Given the description of an element on the screen output the (x, y) to click on. 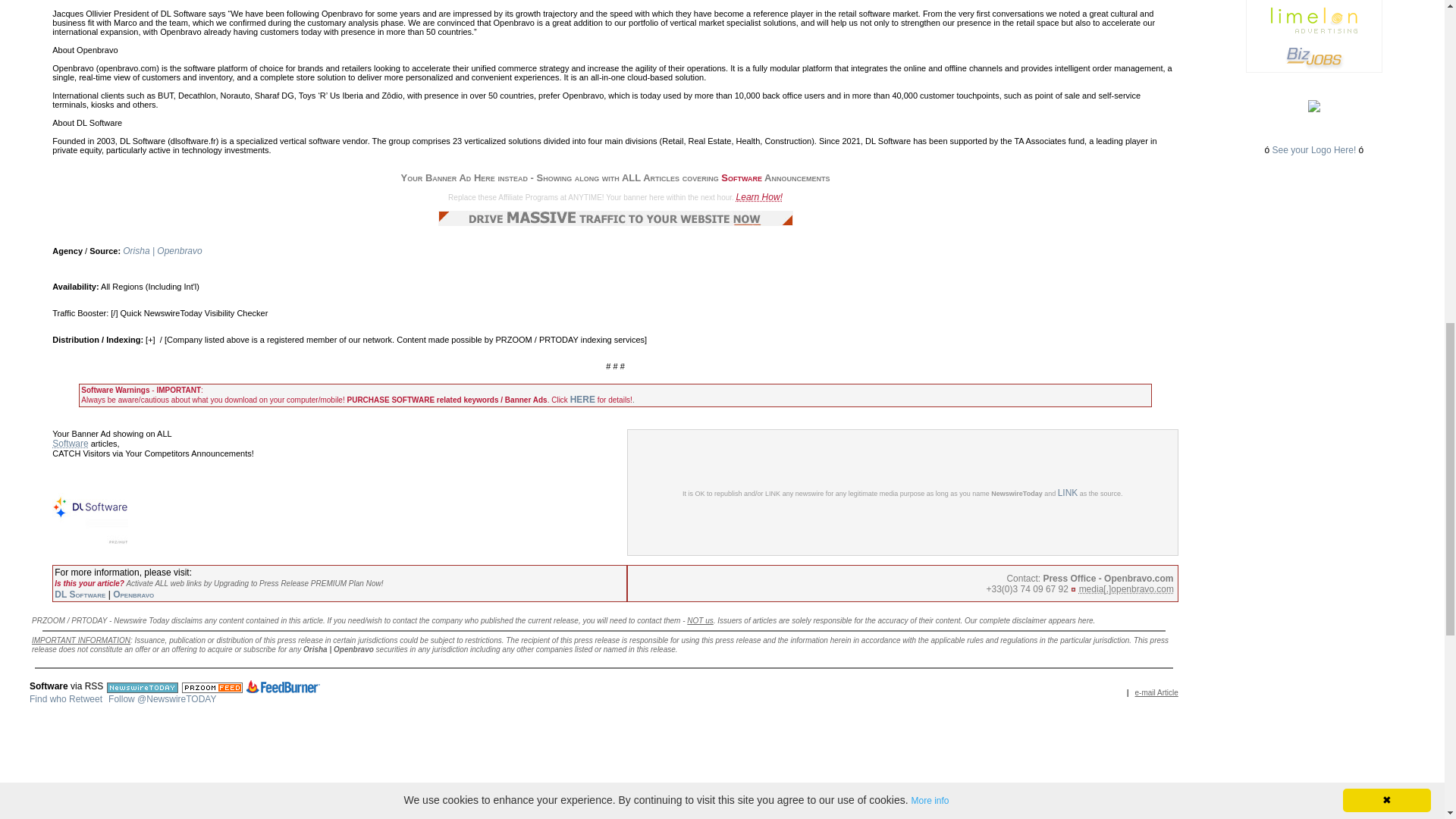
Openbravo (133, 593)
HERE (582, 398)
Learn How! (759, 196)
Software (69, 443)
DL Software (79, 593)
Find who Retweet (65, 698)
Quick NewswireToday (161, 312)
here (1085, 620)
LINK (1068, 491)
